Given the description of an element on the screen output the (x, y) to click on. 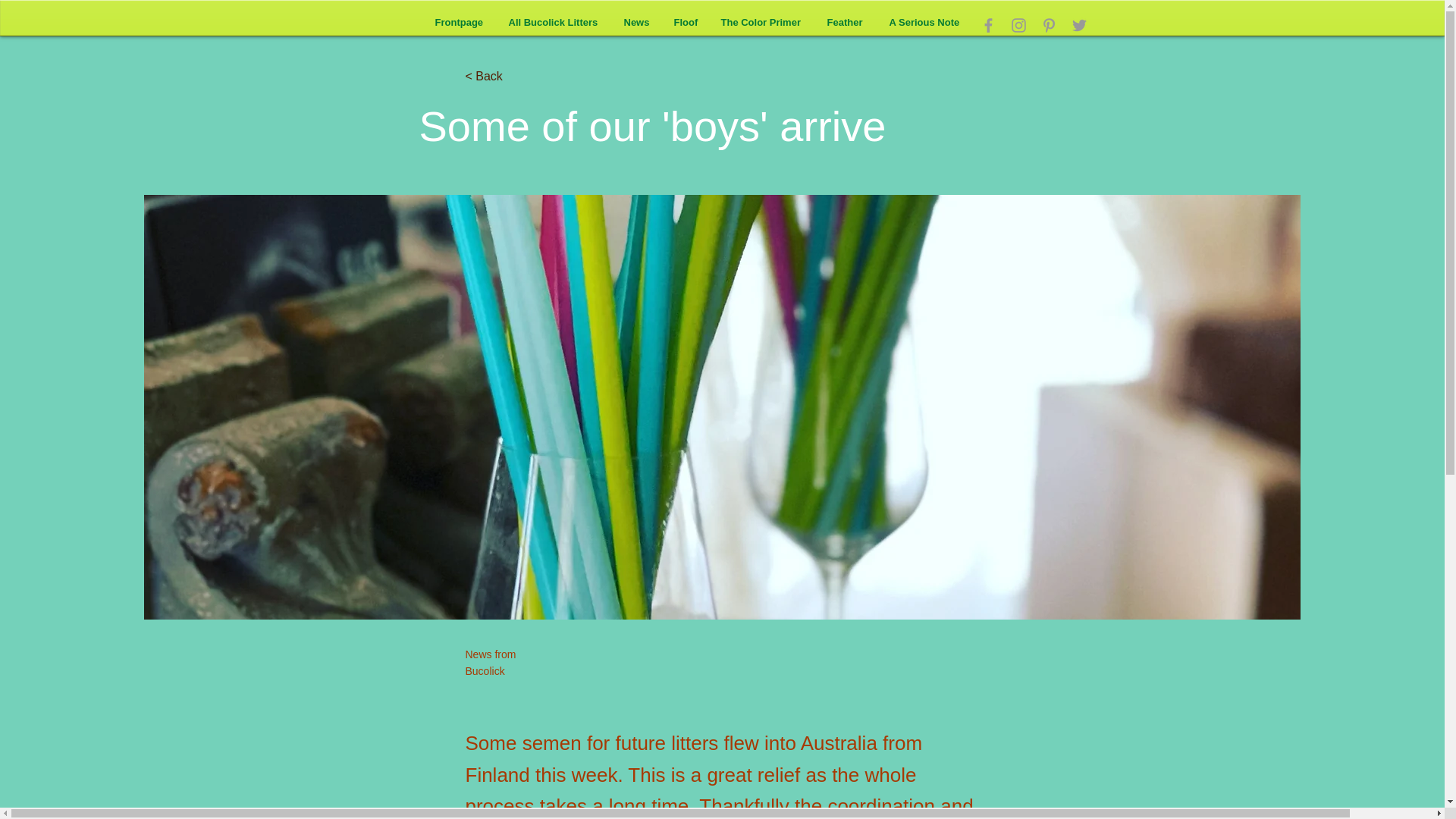
Floof (686, 22)
Frontpage (459, 22)
All Bucolick Litters (554, 22)
The Color Primer (762, 22)
Feather (846, 22)
News (637, 22)
A Serious Note (925, 22)
